Given the description of an element on the screen output the (x, y) to click on. 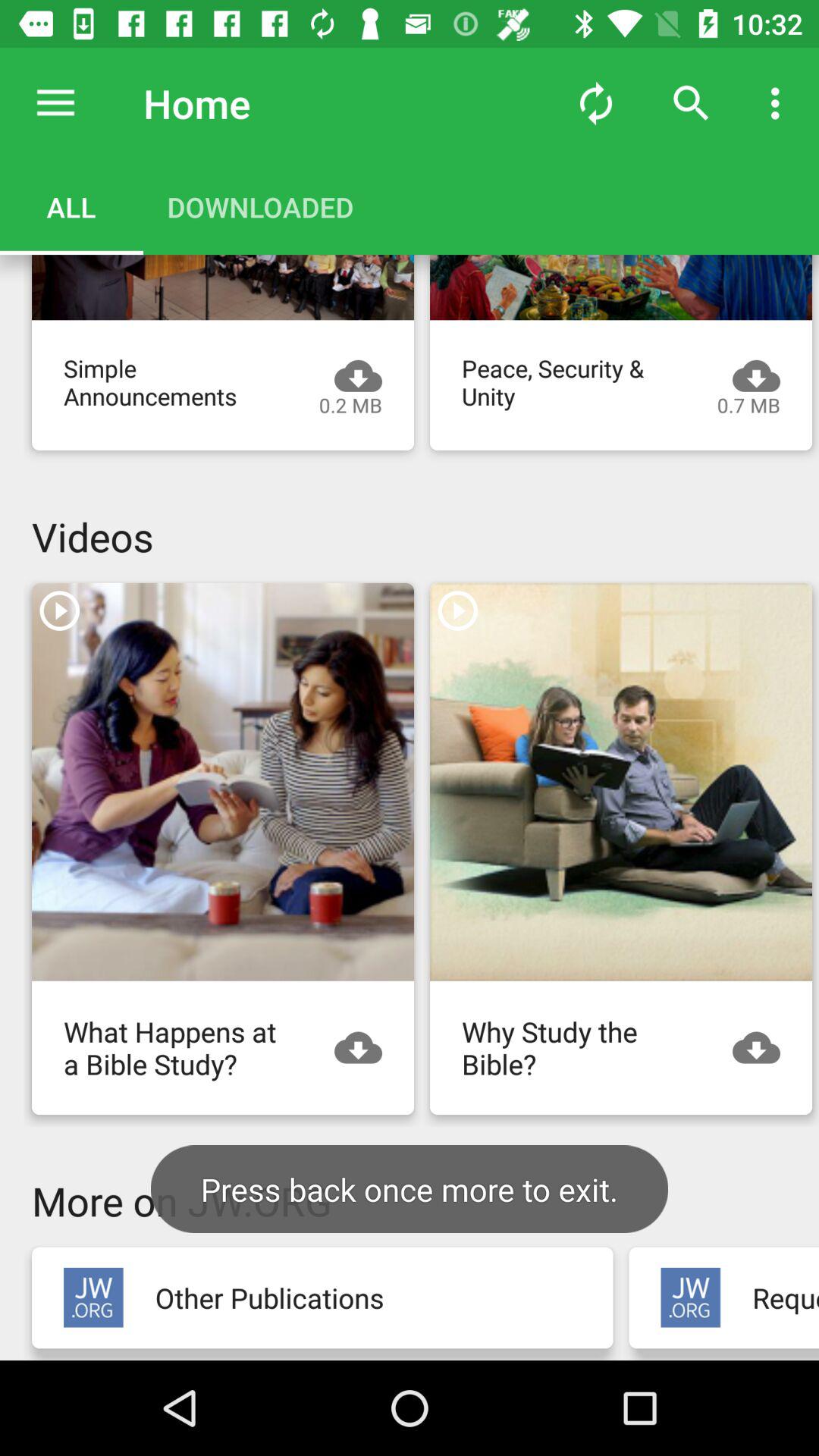
download (764, 1047)
